Given the description of an element on the screen output the (x, y) to click on. 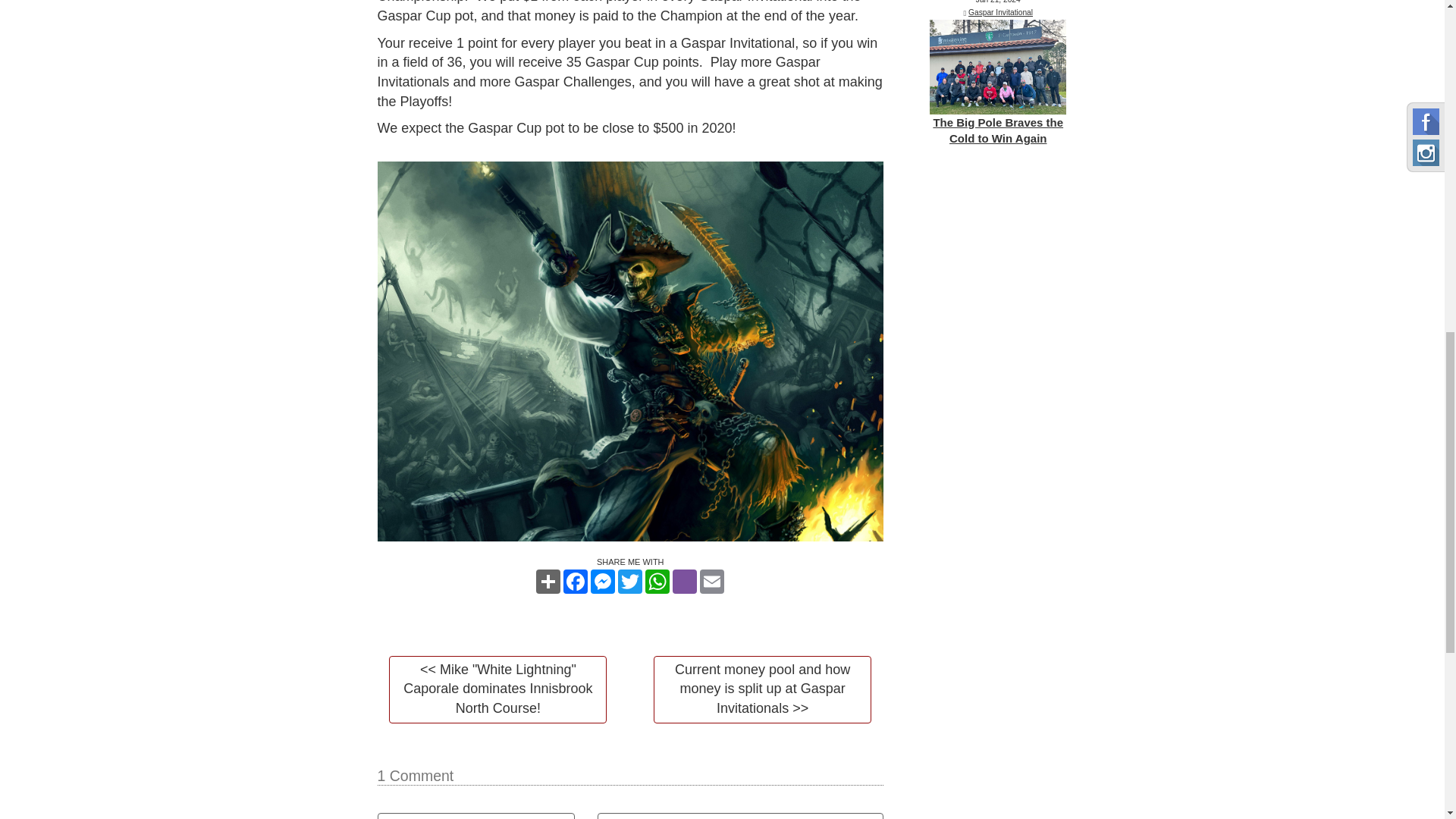
WhatsApp (657, 581)
Messenger (602, 581)
Email (711, 581)
Twitter (629, 581)
Facebook (575, 581)
Viber (684, 581)
